Given the description of an element on the screen output the (x, y) to click on. 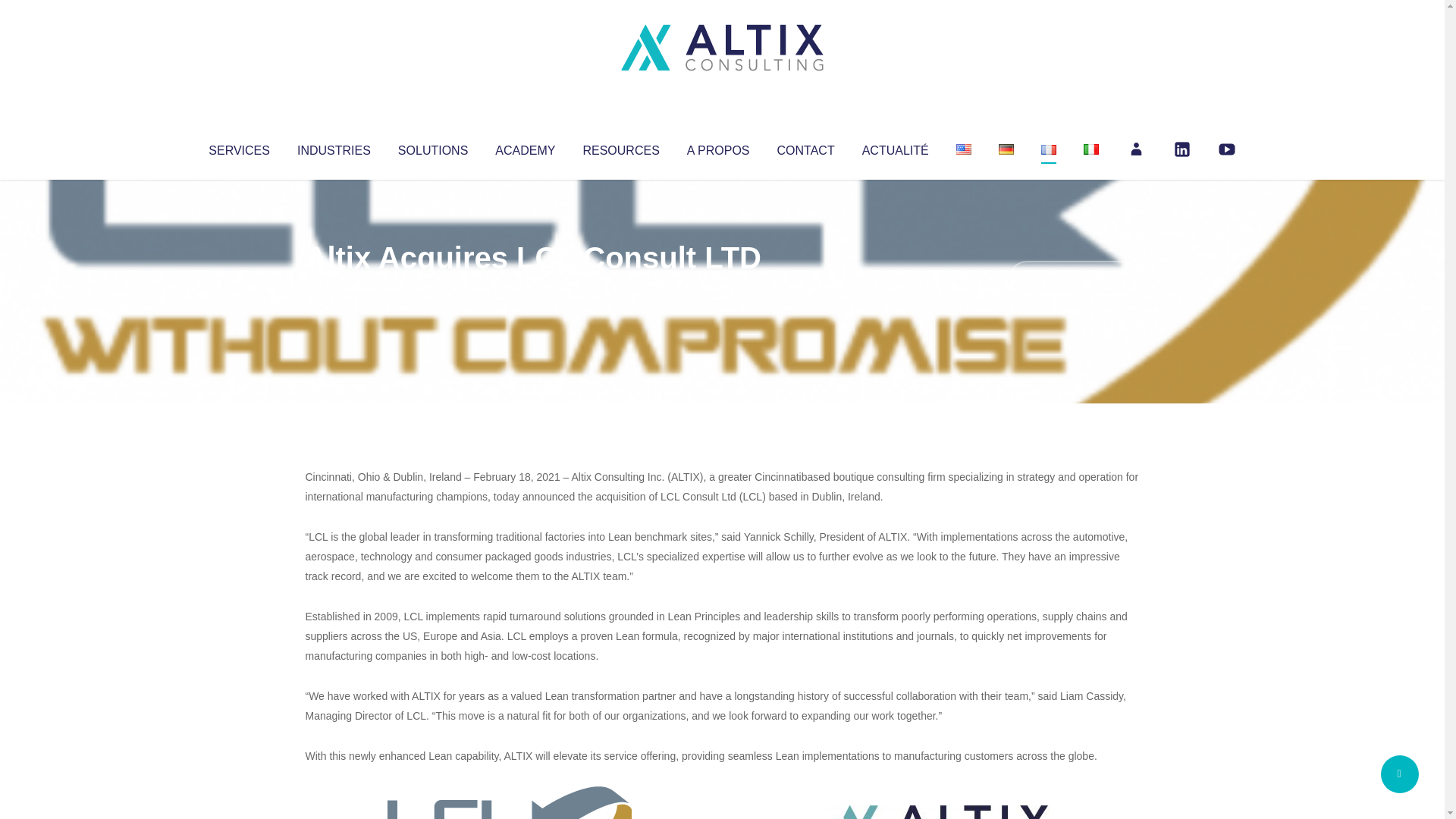
SOLUTIONS (432, 146)
RESOURCES (620, 146)
SERVICES (238, 146)
No Comments (1073, 278)
Altix (333, 287)
INDUSTRIES (334, 146)
Uncategorized (530, 287)
A PROPOS (718, 146)
Articles par Altix (333, 287)
ACADEMY (524, 146)
